Given the description of an element on the screen output the (x, y) to click on. 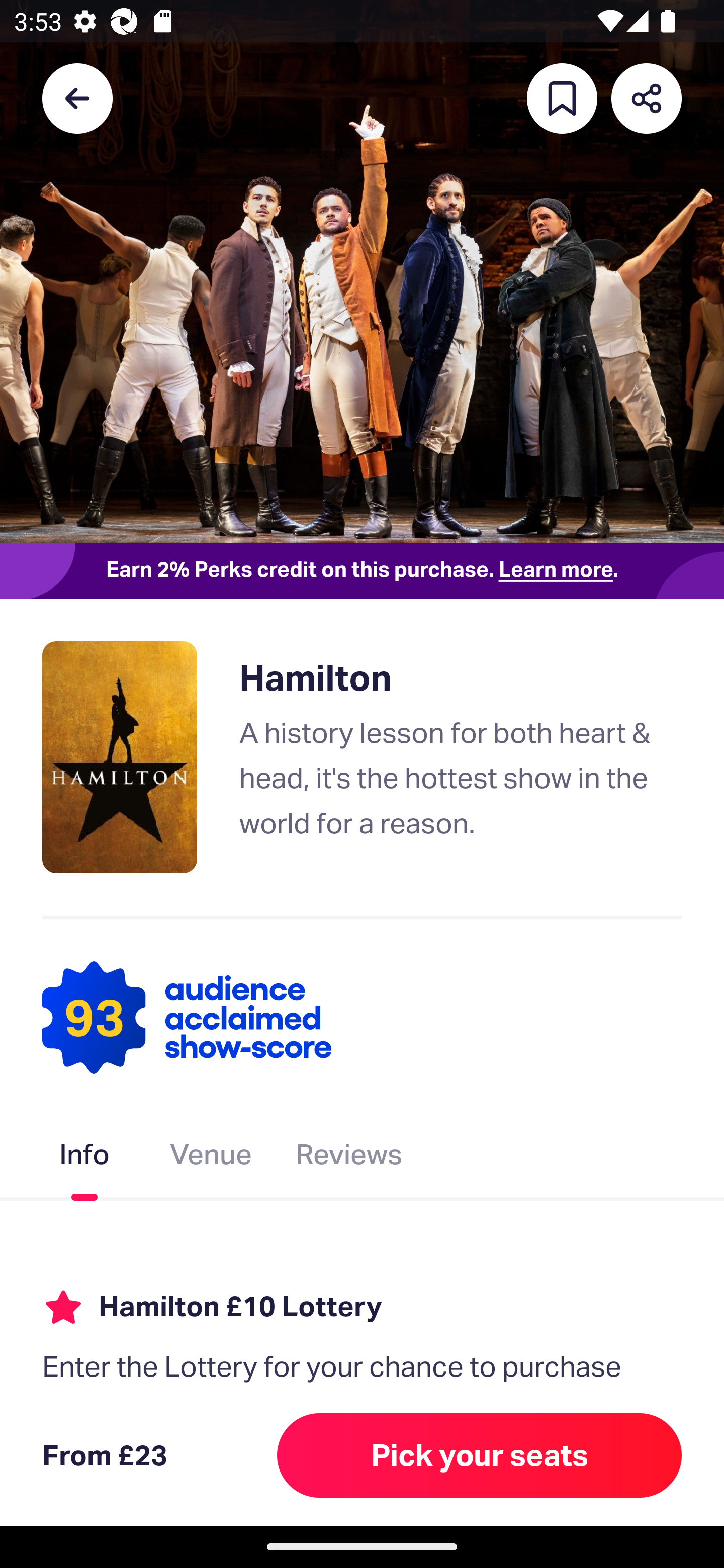
Earn 2% Perks credit on this purchase. Learn more. (362, 570)
Venue (210, 1158)
Reviews (348, 1158)
Pick your seats (479, 1454)
